Given the description of an element on the screen output the (x, y) to click on. 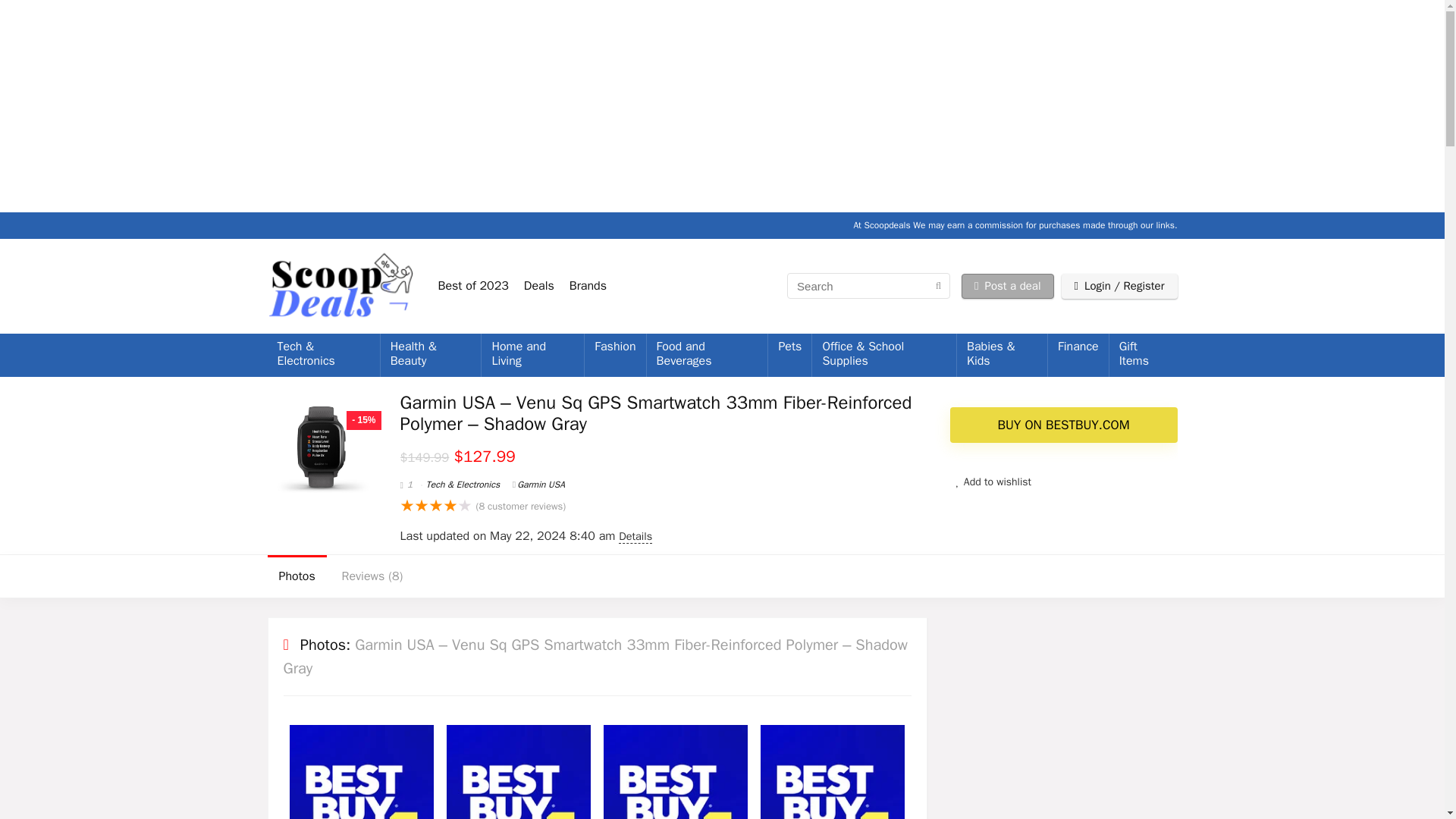
BUY ON BESTBUY.COM (1062, 425)
Finance (1078, 347)
Garmin USA (538, 484)
Brands (588, 285)
Photos (296, 576)
Best of 2023 (473, 285)
Pets (789, 347)
Home and Living (532, 354)
Post a deal (1006, 285)
Food and Beverages (707, 354)
Rated 4.25 out of 5 (435, 505)
Gift Items (1143, 354)
Fashion (615, 347)
Deals (539, 285)
